Given the description of an element on the screen output the (x, y) to click on. 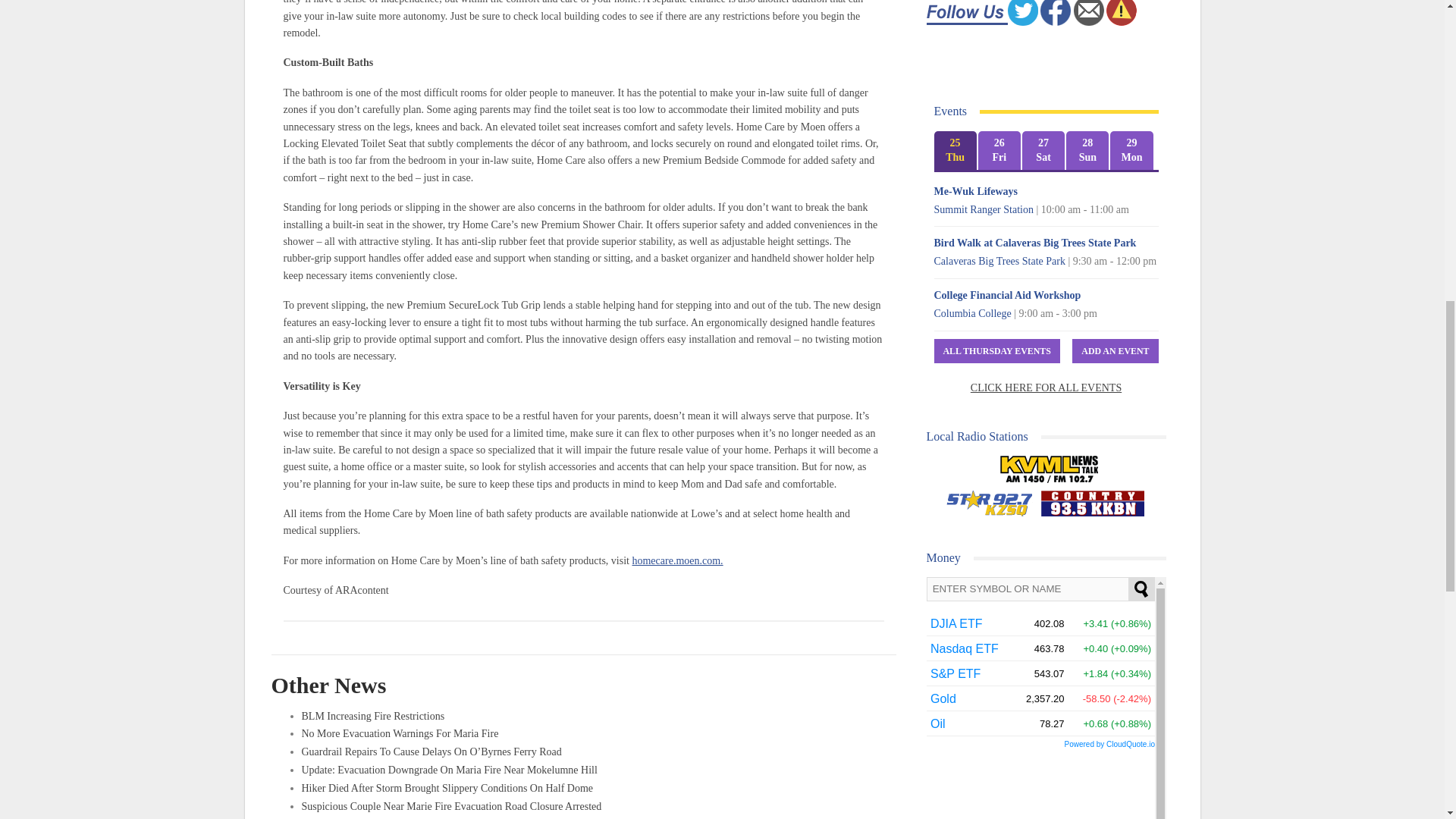
Add An Event (1114, 351)
All Thursday Events (996, 351)
